Given the description of an element on the screen output the (x, y) to click on. 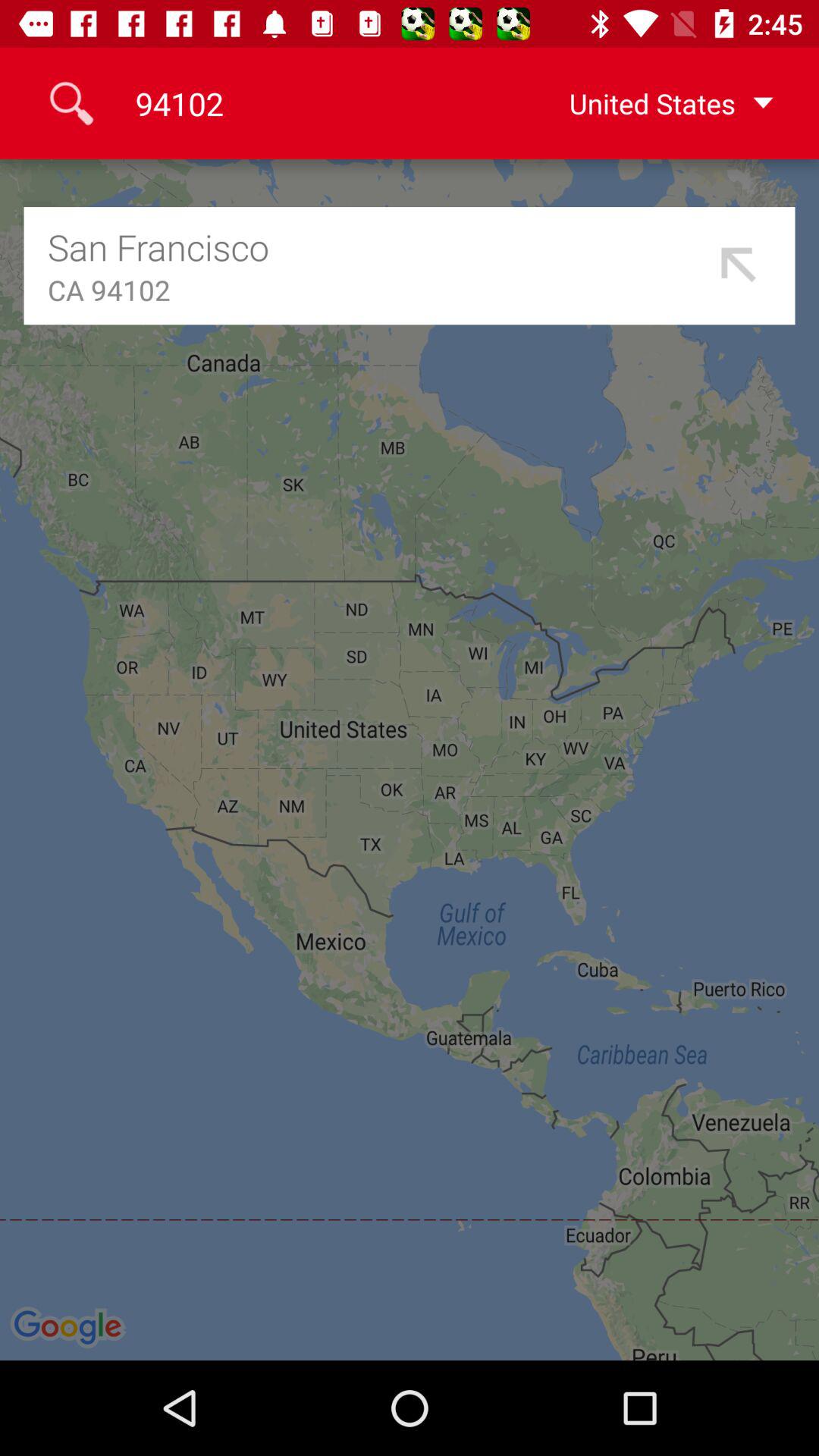
turn off san francisco item (377, 246)
